Given the description of an element on the screen output the (x, y) to click on. 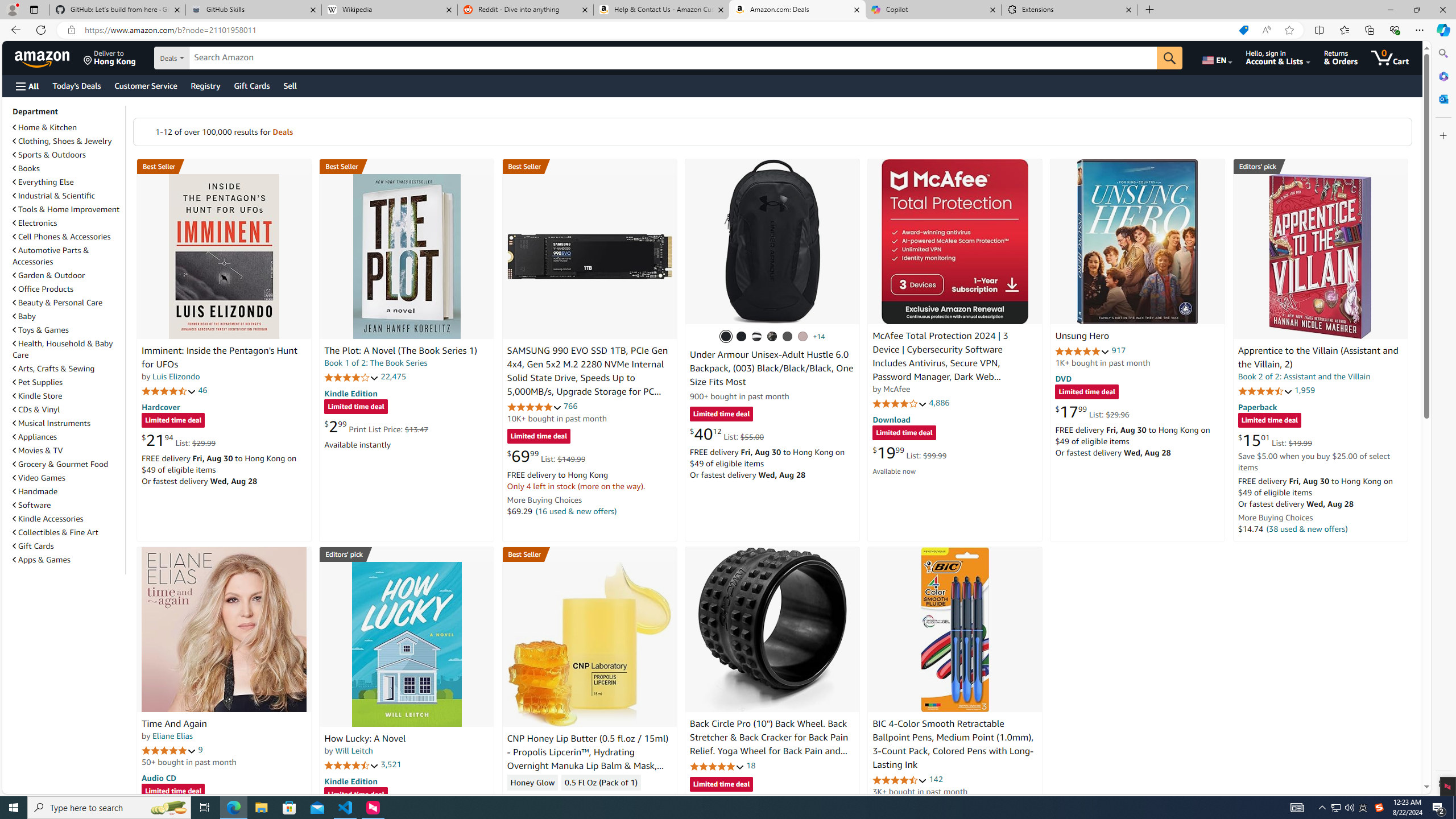
Imminent: Inside the Pentagon's Hunt for UFOs (223, 256)
CDs & Vinyl (36, 409)
Help & Contact Us - Amazon Customer Service (660, 9)
Customer Service (145, 85)
Pet Supplies (37, 381)
Arts, Crafts & Sewing (53, 368)
Garden & Outdoor (49, 275)
Copilot (933, 9)
4.1 out of 5 stars (899, 403)
Shopping in Microsoft Edge (1243, 29)
4.6 out of 5 stars (899, 779)
Unsung Hero (1137, 241)
Kindle Accessories (67, 518)
Book 2 of 2: Assistant and the Villain (1303, 376)
